Given the description of an element on the screen output the (x, y) to click on. 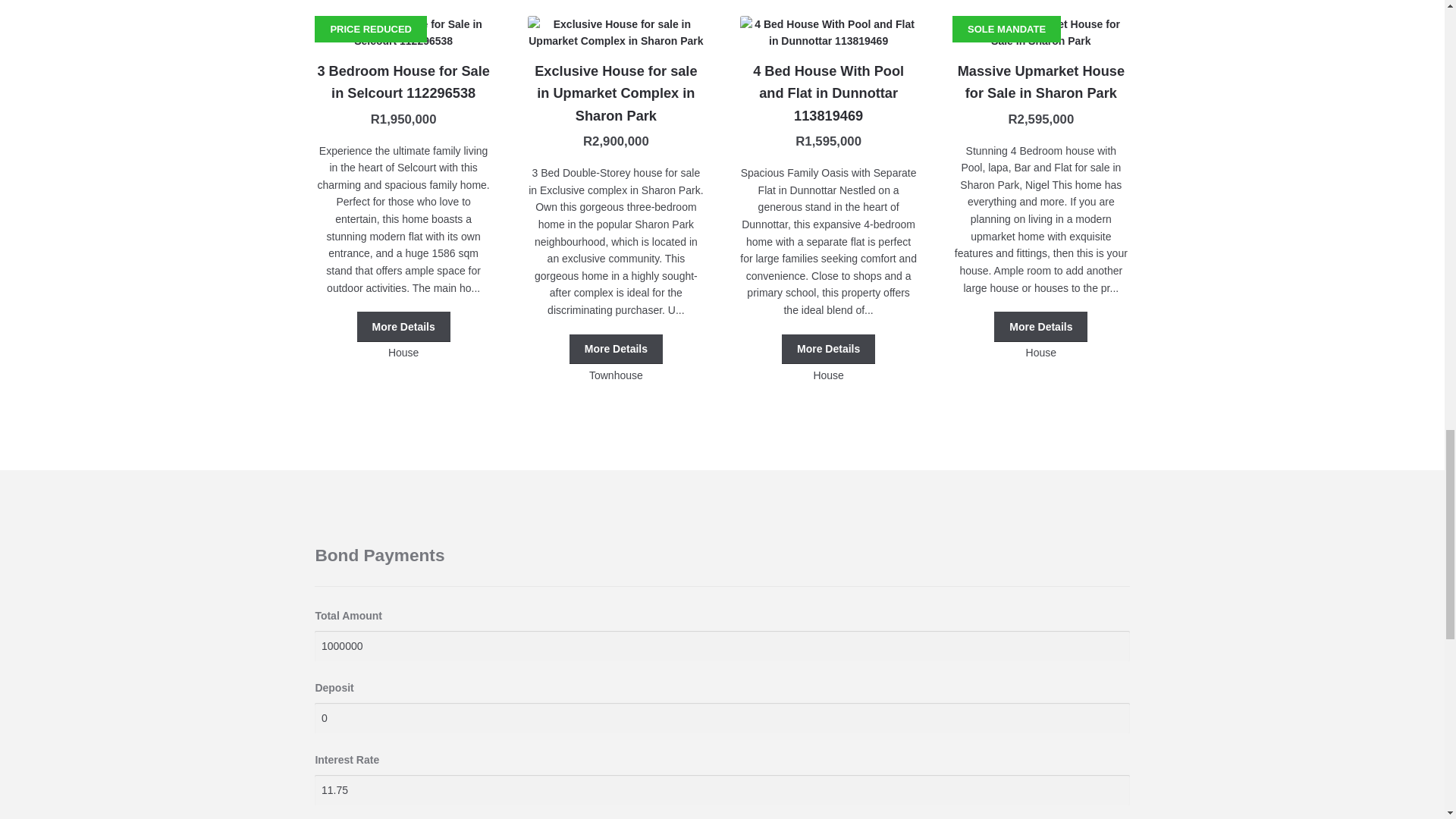
0 (721, 717)
11.75 (721, 789)
1000000 (721, 645)
